Given the description of an element on the screen output the (x, y) to click on. 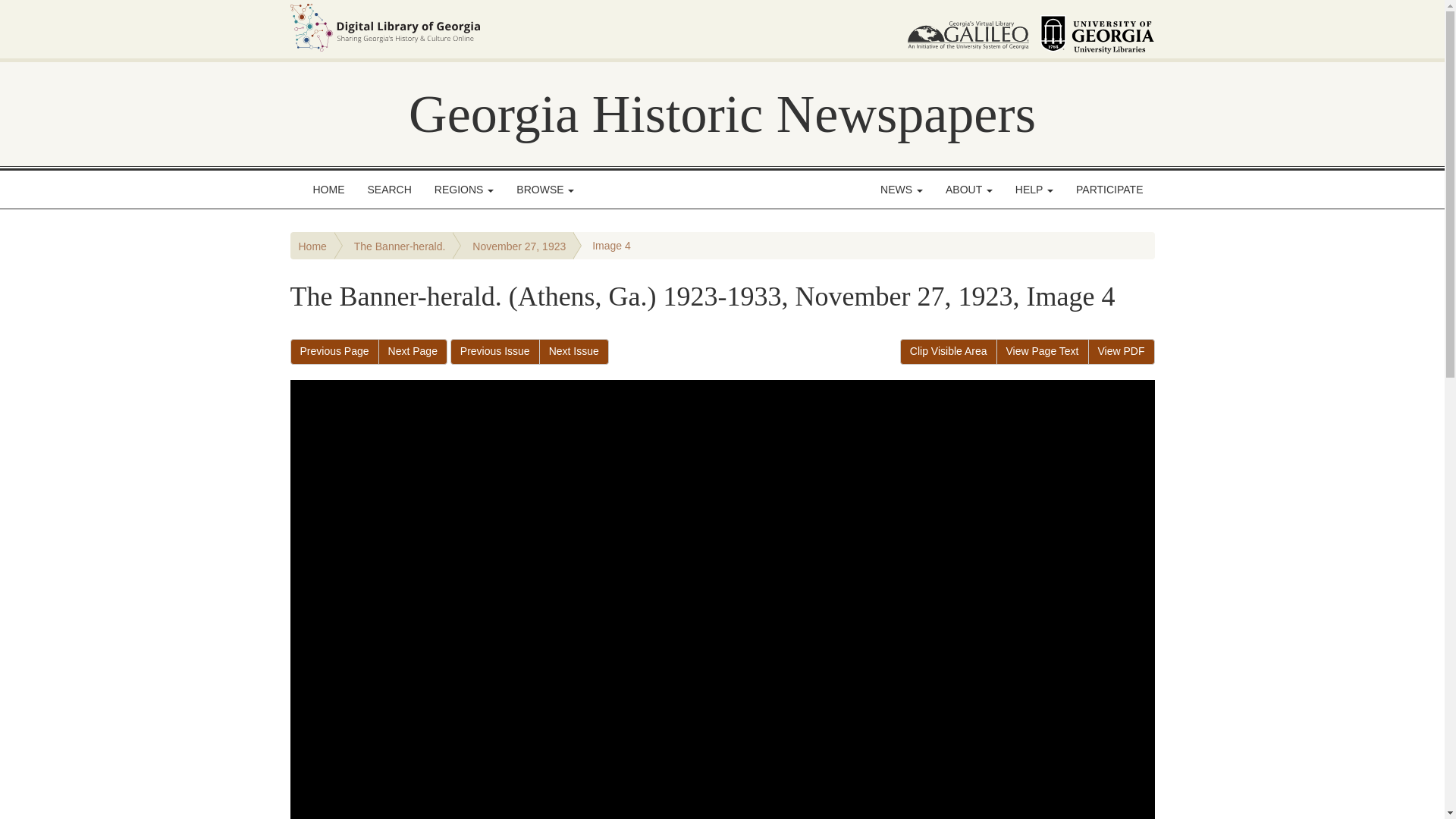
REGIONS (464, 189)
GALILEO Homepage Link (968, 29)
Georgia Historic Newspapers (722, 114)
DLG Homepage Link (536, 27)
BROWSE (545, 189)
PARTICIPATE (1109, 189)
HELP (1034, 189)
ABOUT (969, 189)
UGA Libraries Homepage Link (1097, 29)
GHNP Homepage (722, 114)
